Given the description of an element on the screen output the (x, y) to click on. 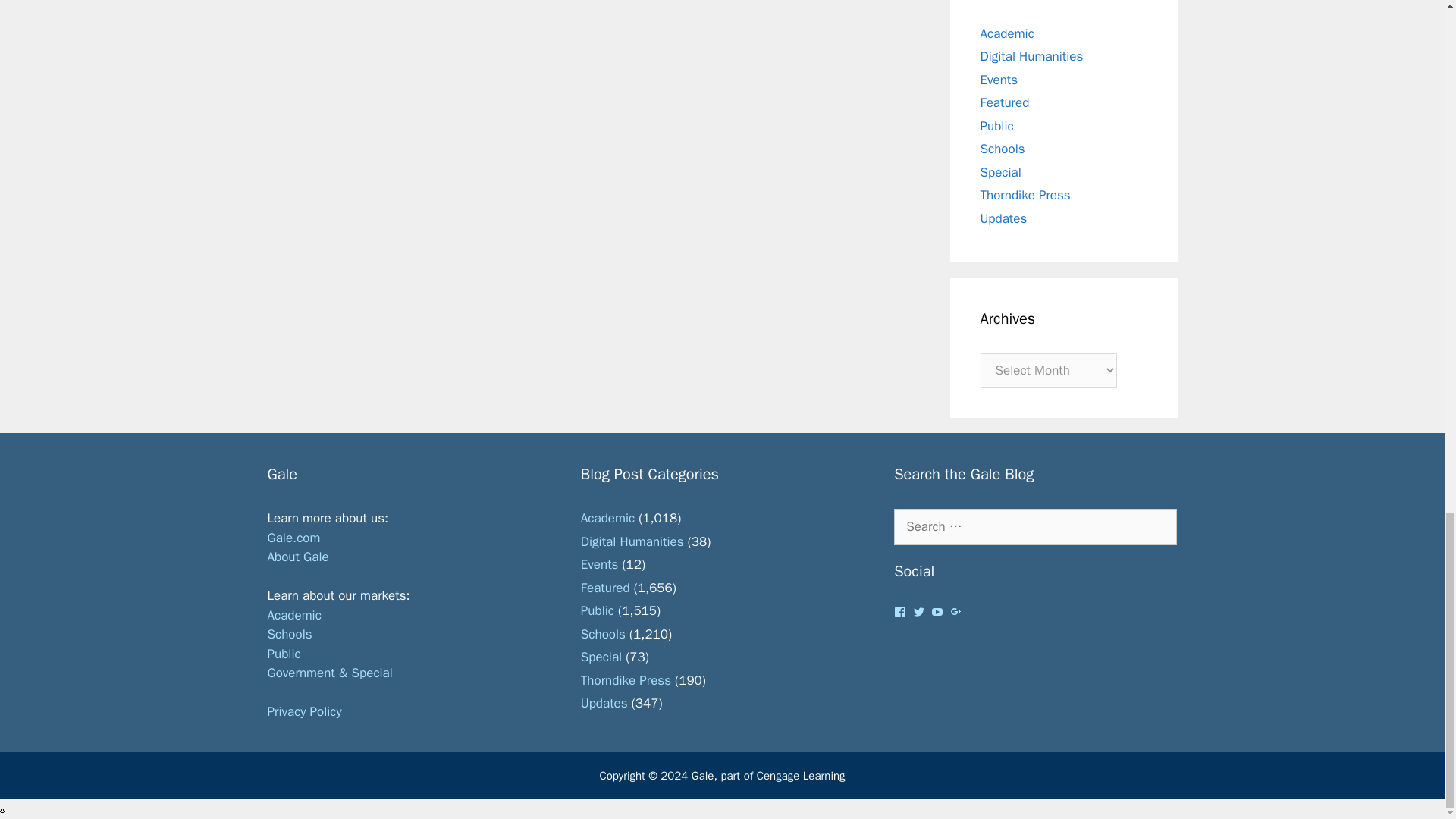
Scroll back to top (1406, 141)
Search for: (1034, 526)
